Given the description of an element on the screen output the (x, y) to click on. 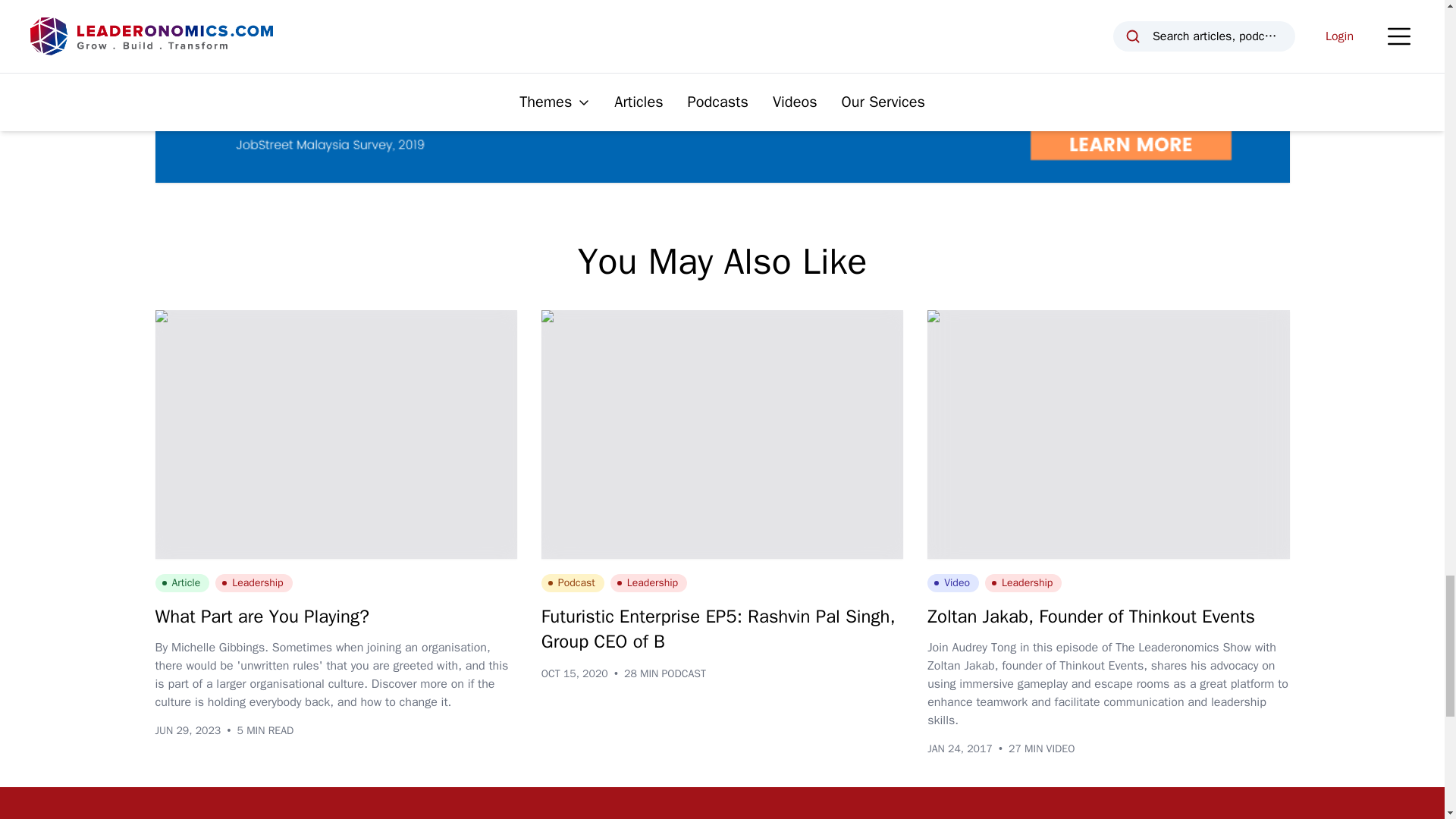
What Part are You Playing? (261, 616)
Podcast (572, 583)
Leadership (648, 583)
Article (181, 583)
Futuristic Enterprise EP5: Rashvin Pal Singh, Group CEO of B (718, 628)
Leadership (253, 583)
